Given the description of an element on the screen output the (x, y) to click on. 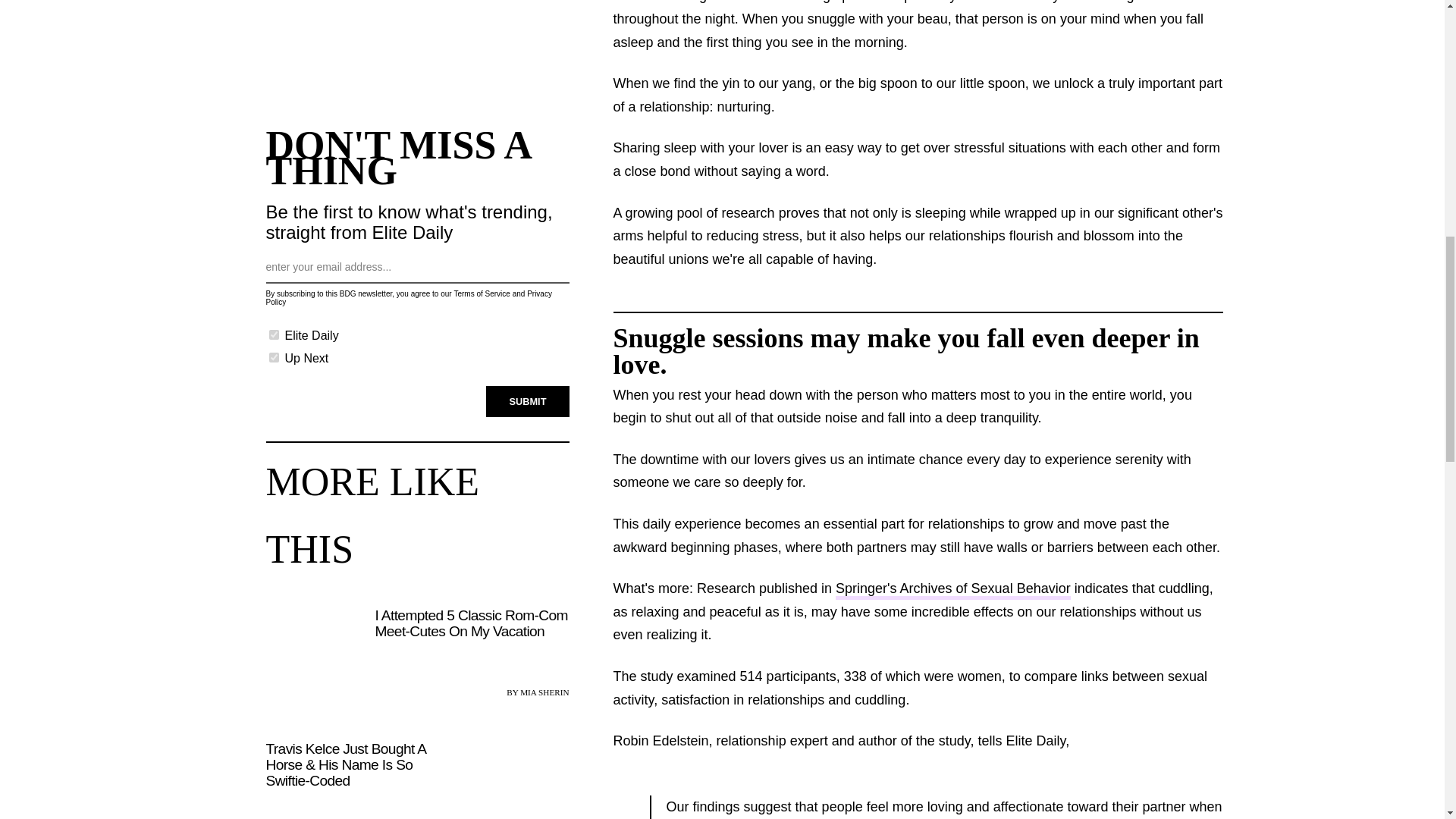
Terms of Service (480, 292)
Springer's Archives of Sexual Behavior (952, 589)
Privacy Policy (407, 297)
SUBMIT (527, 399)
